Given the description of an element on the screen output the (x, y) to click on. 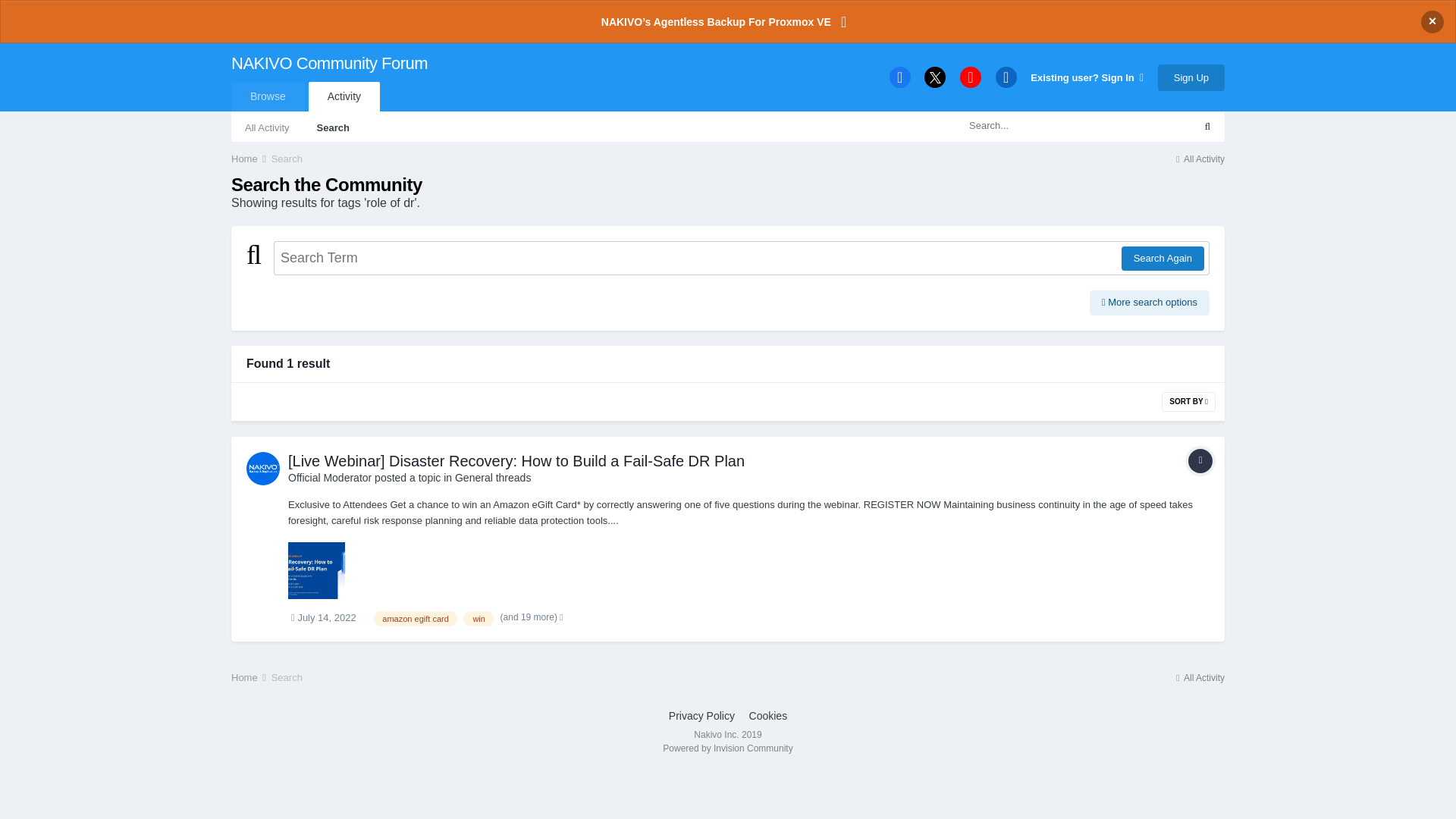
Home (249, 158)
Find other content tagged with 'win' (479, 618)
Search Again (1162, 258)
Topic (1200, 460)
All Activity (1198, 158)
NAKIVO Community Forum (329, 76)
Home (249, 158)
Find other content tagged with 'amazon egift card' (414, 618)
Go to Official Moderator's profile (262, 468)
Search (332, 126)
Existing user? Sign In   (1086, 77)
Sign Up (1190, 76)
Search (286, 158)
Go to Official Moderator's profile (329, 477)
All Activity (266, 126)
